Given the description of an element on the screen output the (x, y) to click on. 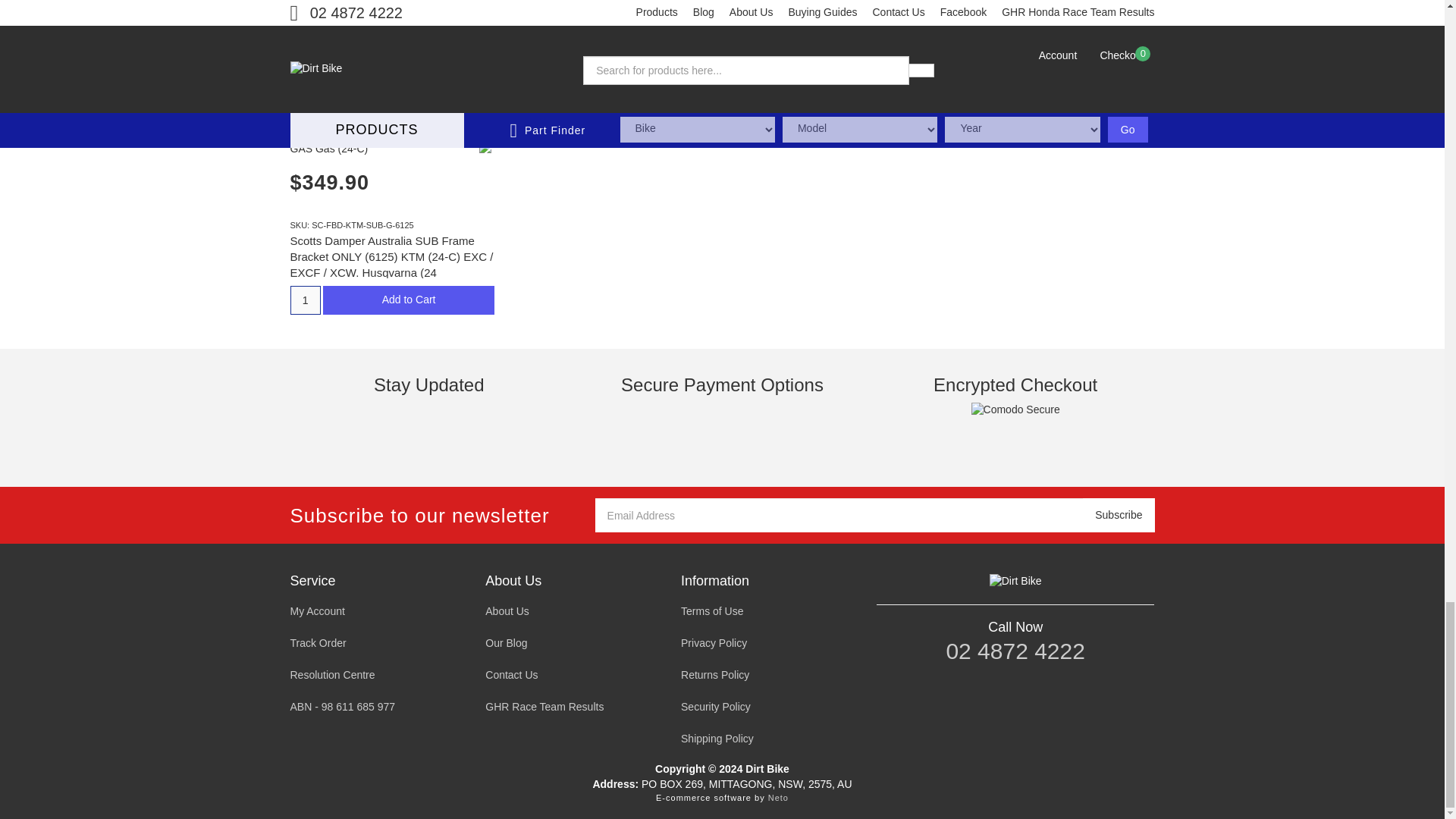
1 (304, 299)
1 (304, 62)
Subscribe (1118, 514)
1 (964, 62)
1 (524, 62)
1 (744, 47)
